Given the description of an element on the screen output the (x, y) to click on. 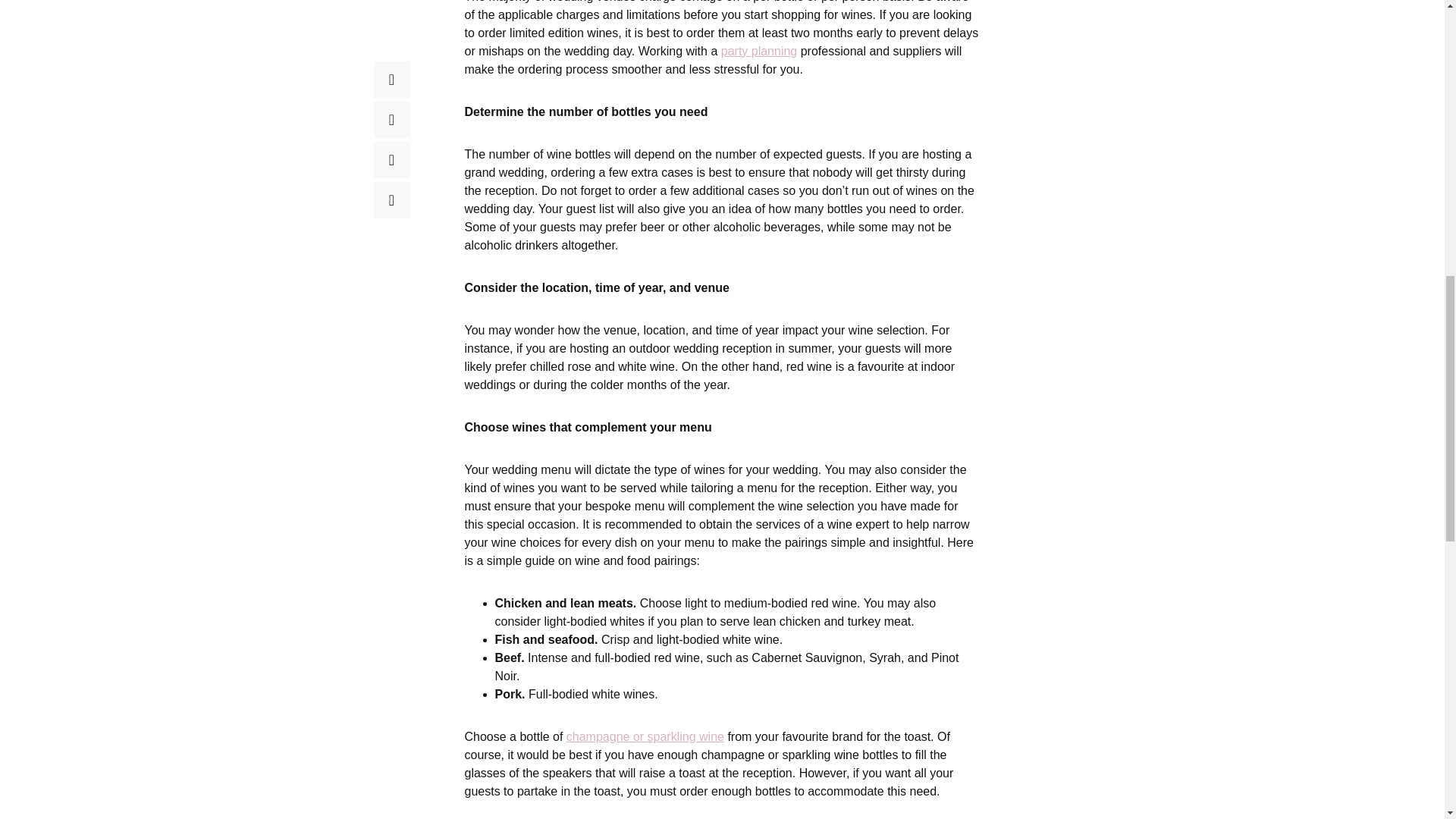
party planning (758, 50)
champagne or sparkling wine (644, 735)
